Given the description of an element on the screen output the (x, y) to click on. 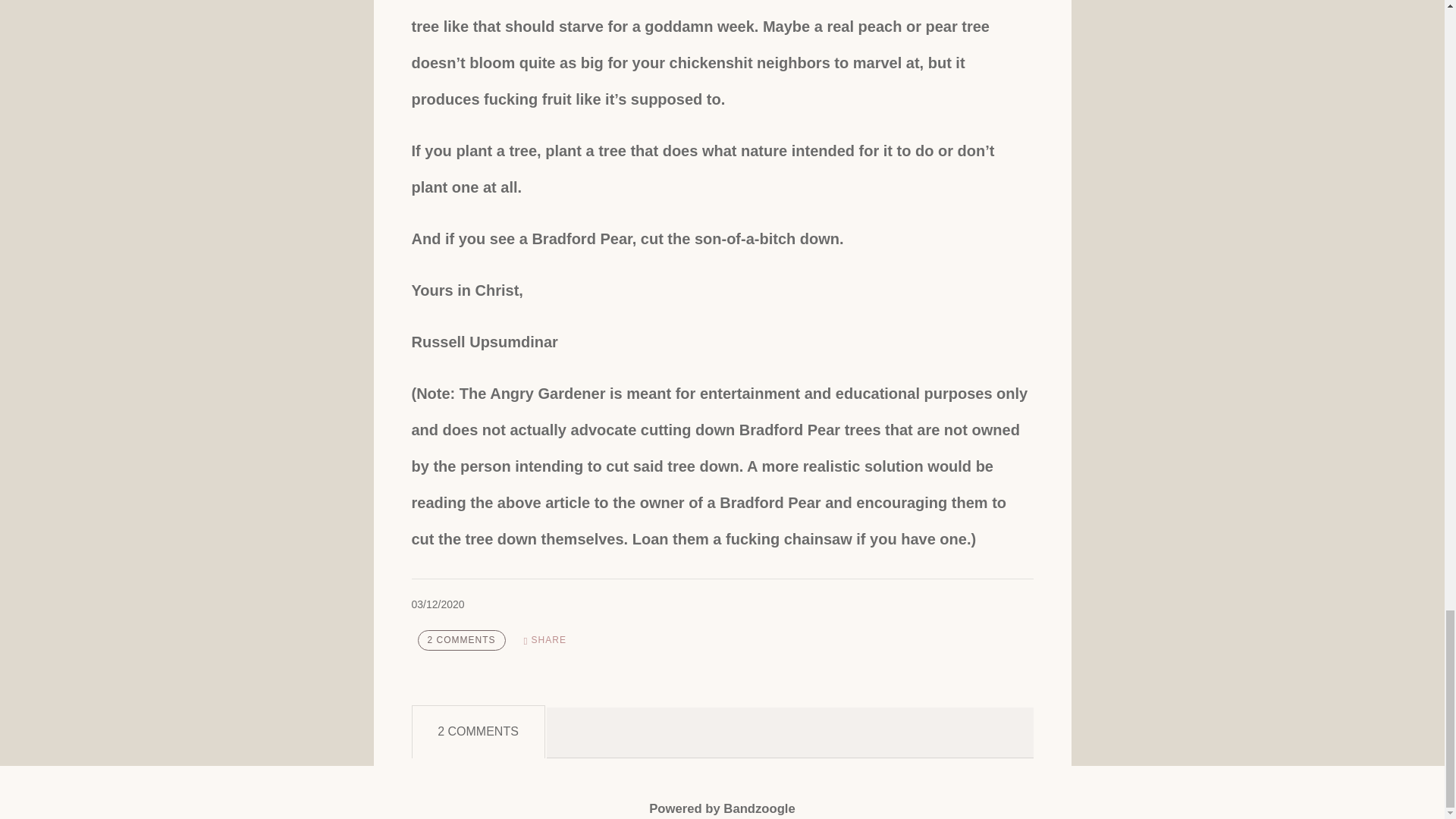
2 comments (460, 639)
Share The Bradford Pear (544, 640)
SHARE (544, 640)
2 COMMENTS (460, 639)
Powered by Bandzoogle (721, 808)
March 12, 2020 21:59 (437, 604)
Powered by Bandzoogle (721, 808)
